Given the description of an element on the screen output the (x, y) to click on. 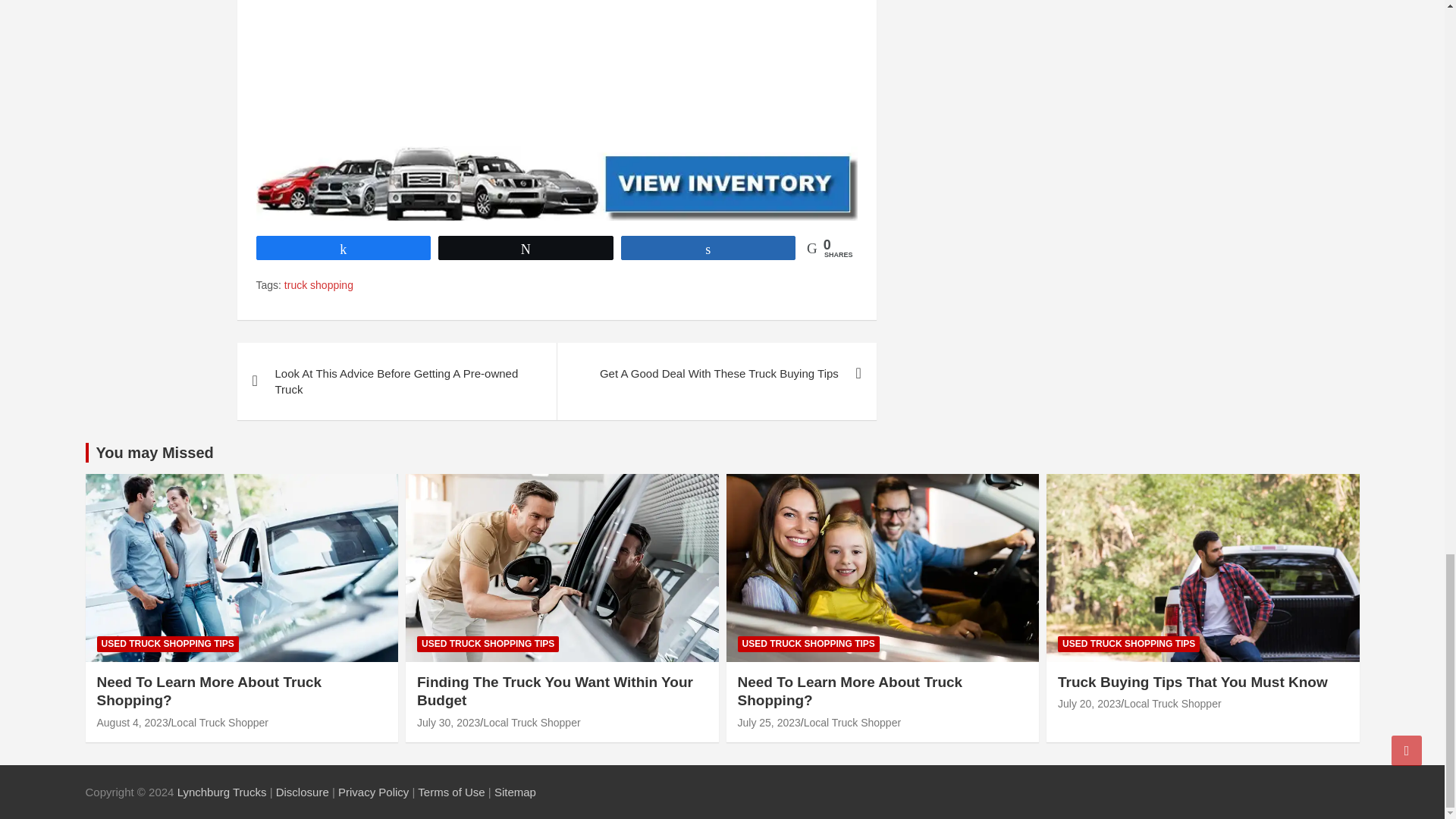
Truck Buying Tips That You Must Know (1089, 703)
truck shopping (318, 285)
Finding The Truck You Want Within Your Budget (448, 722)
Get A Good Deal With These Truck Buying Tips (716, 373)
Lynchburg Trucks  (223, 791)
Look At This Advice Before Getting A Pre-owned Truck (395, 381)
Need To Learn More About Truck Shopping? (132, 722)
Need To Learn More About Truck Shopping? (767, 722)
